Given the description of an element on the screen output the (x, y) to click on. 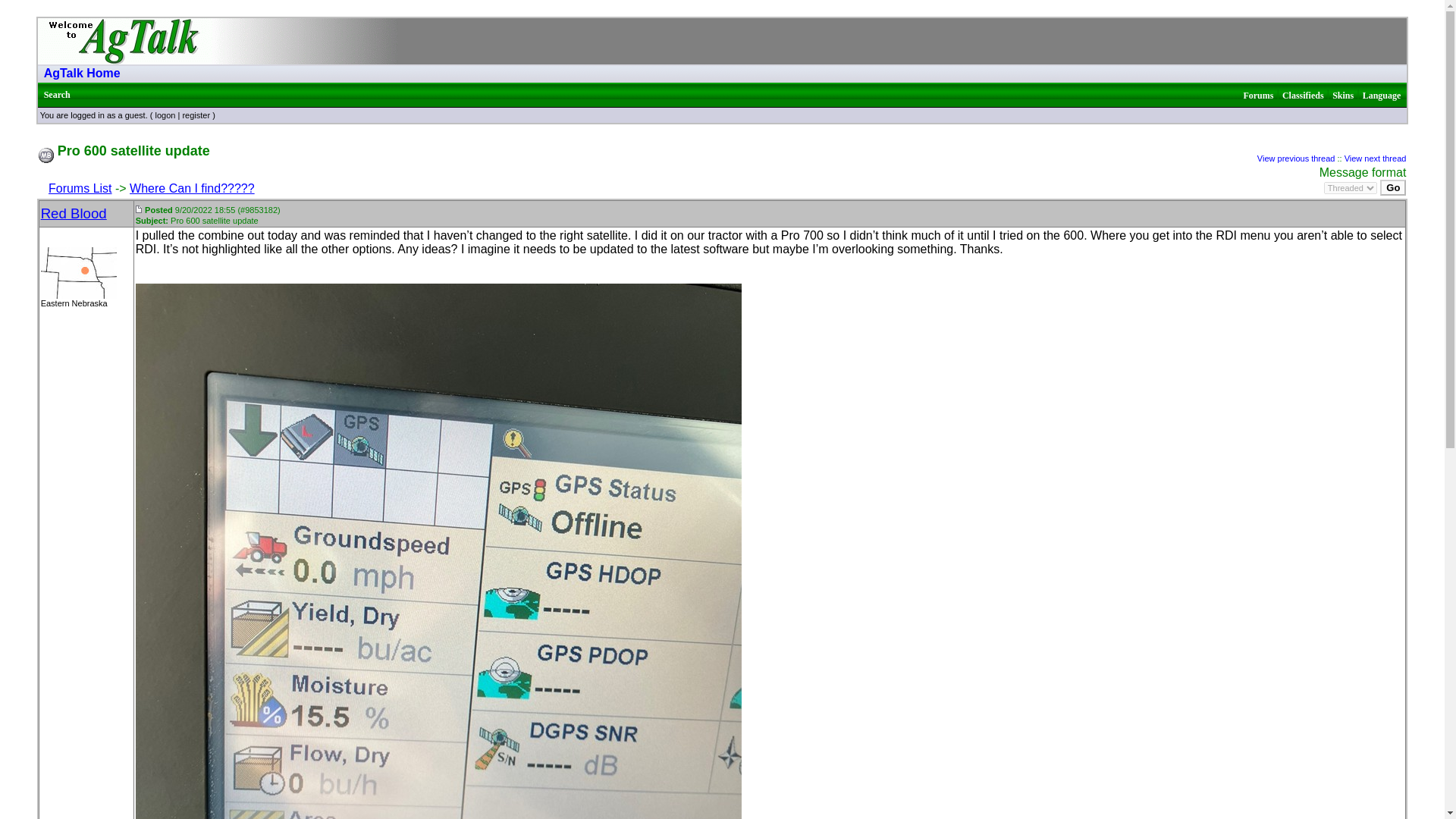
logon (164, 114)
Search (56, 94)
Skins (1343, 95)
AgTalk Home (81, 72)
Red Blood (73, 212)
register (195, 114)
Classifieds (1302, 95)
View previous thread (1296, 157)
Forums List (80, 187)
View next thread (1374, 157)
Go (1393, 187)
Forums (1257, 95)
Language (1381, 95)
Where Can I find????? (191, 187)
Go (1393, 187)
